Given the description of an element on the screen output the (x, y) to click on. 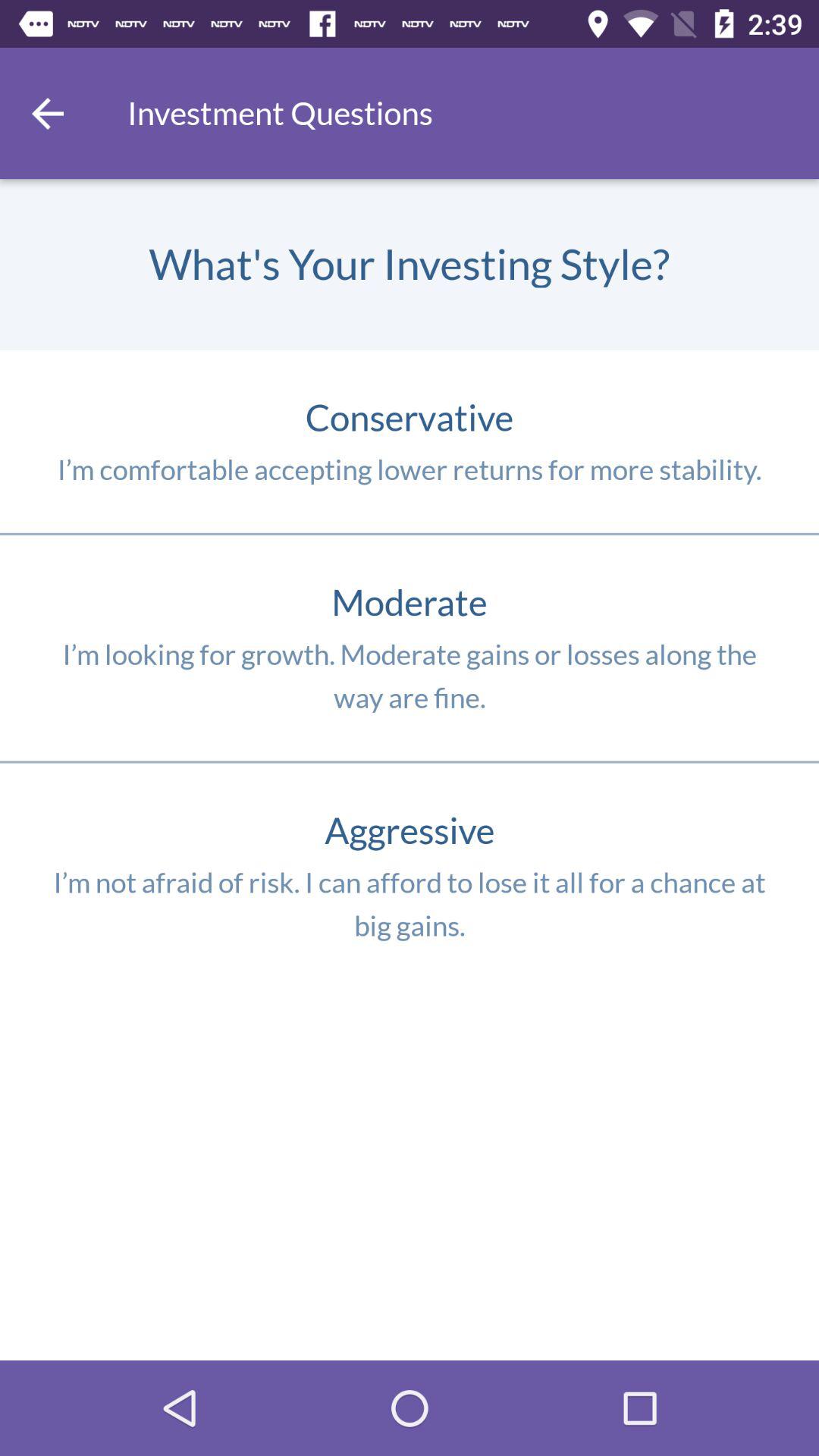
select the item at the top left corner (47, 113)
